Given the description of an element on the screen output the (x, y) to click on. 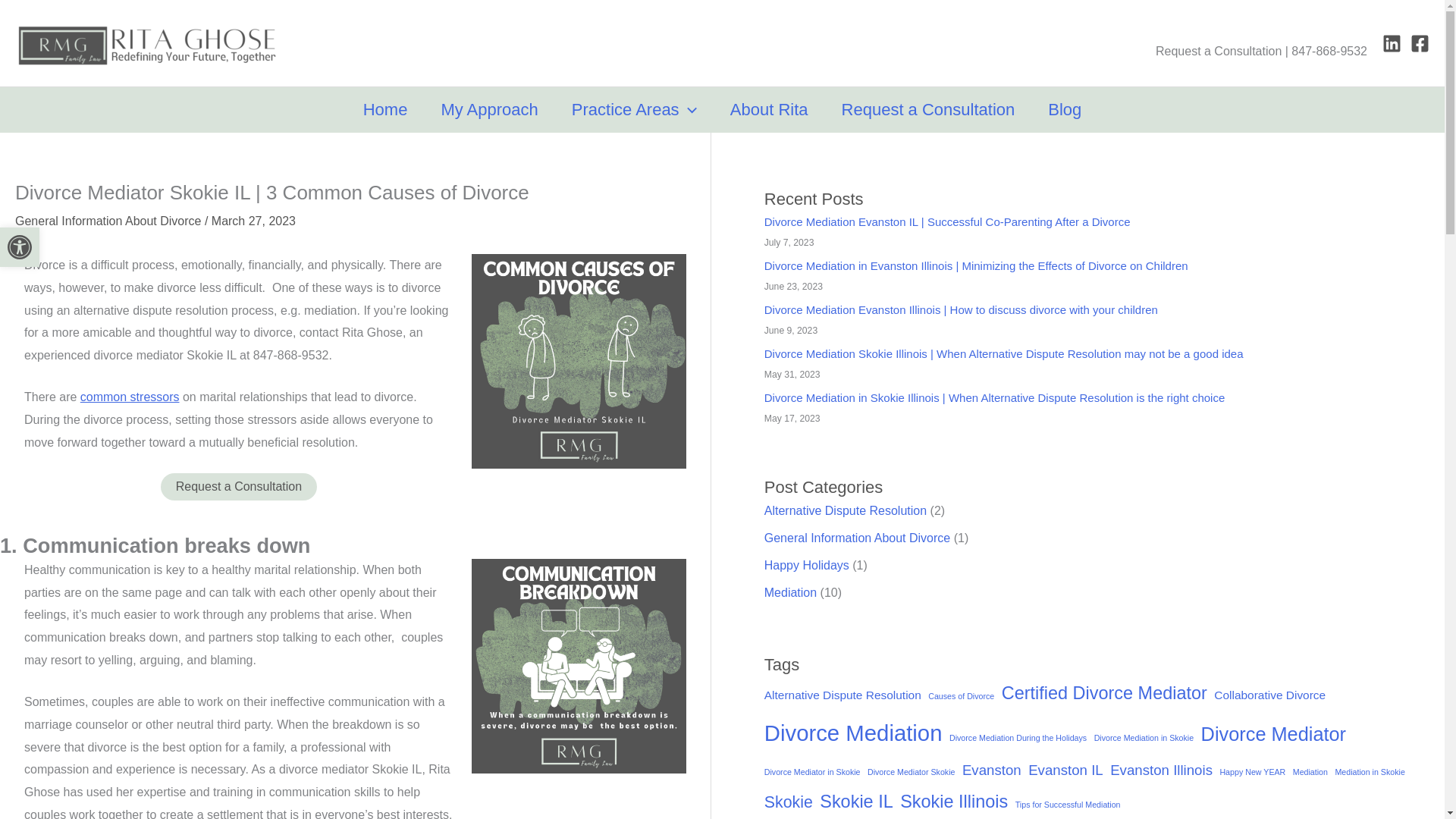
My Approach (488, 109)
About Rita (769, 109)
Accessibility Tools (19, 246)
Request a Consultation (19, 247)
Accessibility Tools (928, 109)
Blog (19, 246)
Home (1063, 109)
Practice Areas (385, 109)
